Given the description of an element on the screen output the (x, y) to click on. 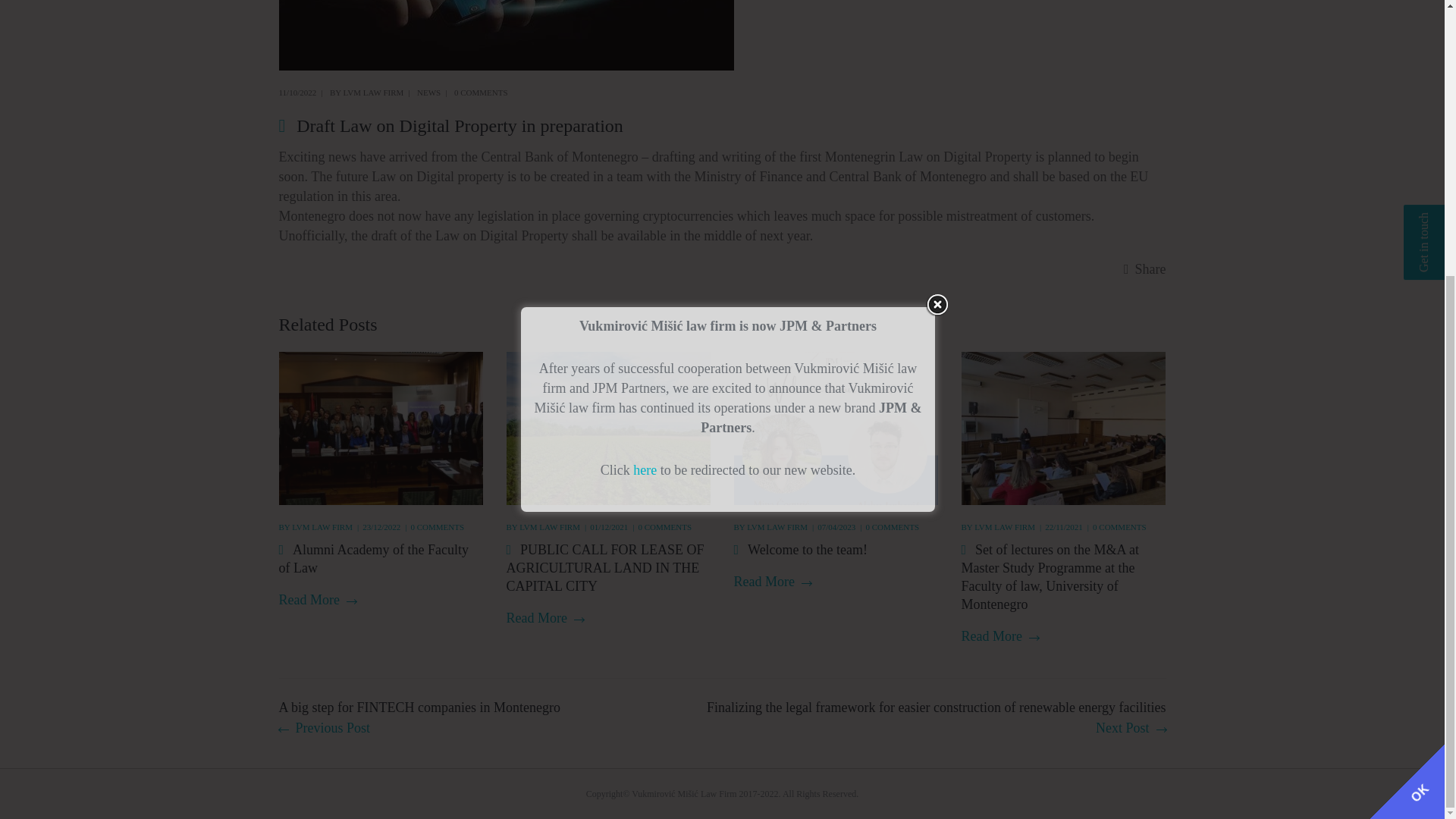
Alumni Academy of the Faculty of Law (373, 558)
LVM LAW FIRM (322, 526)
NEWS (428, 92)
0 COMMENTS (481, 92)
LVM LAW FIRM (373, 92)
A big step for FINTECH companies in Montenegro (419, 717)
Share (1145, 269)
0 COMMENTS (437, 526)
Read More (317, 600)
